Given the description of an element on the screen output the (x, y) to click on. 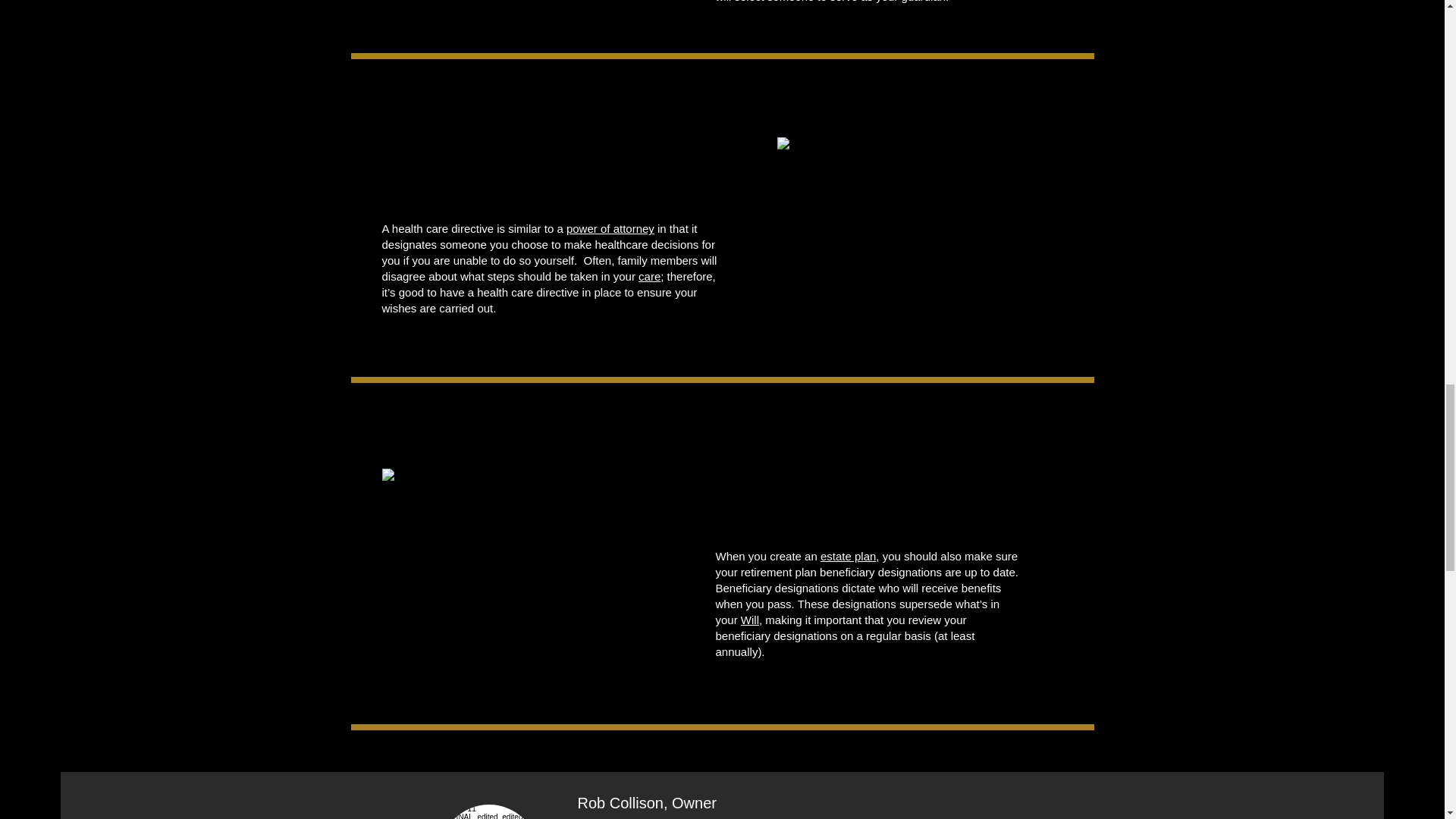
estate plan (848, 555)
care (650, 276)
power of attorney (609, 228)
